Given the description of an element on the screen output the (x, y) to click on. 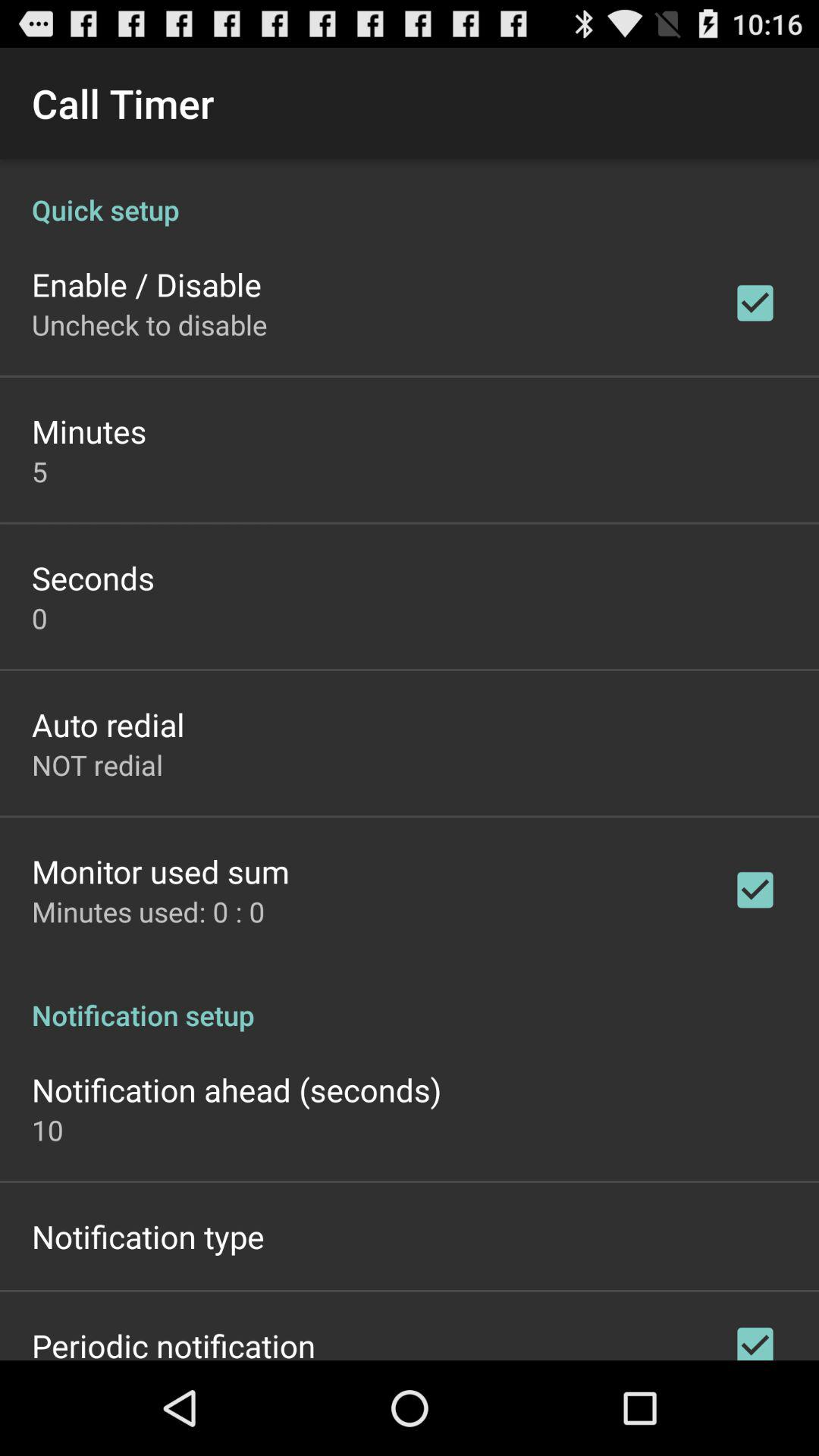
select monitor used sum item (160, 870)
